Given the description of an element on the screen output the (x, y) to click on. 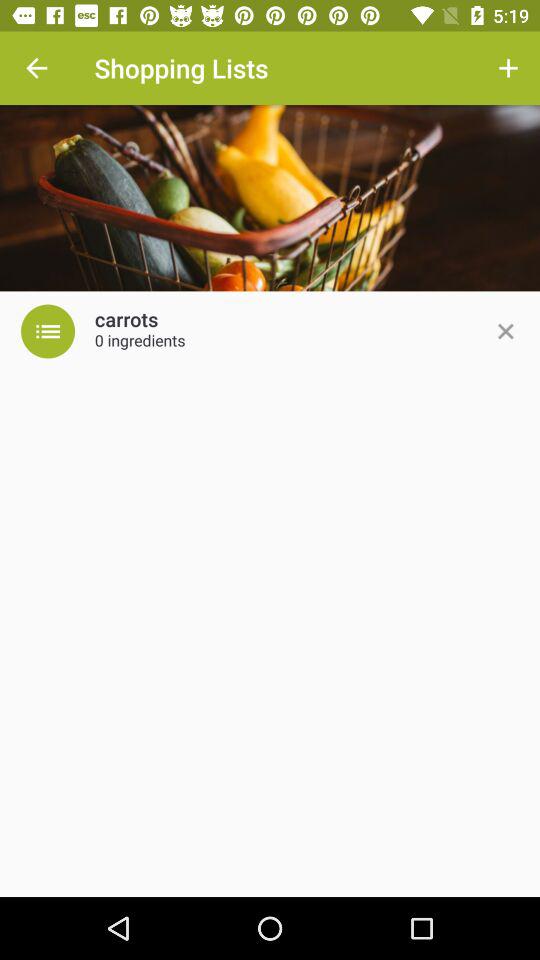
launch the item to the right of the shopping lists icon (508, 67)
